Given the description of an element on the screen output the (x, y) to click on. 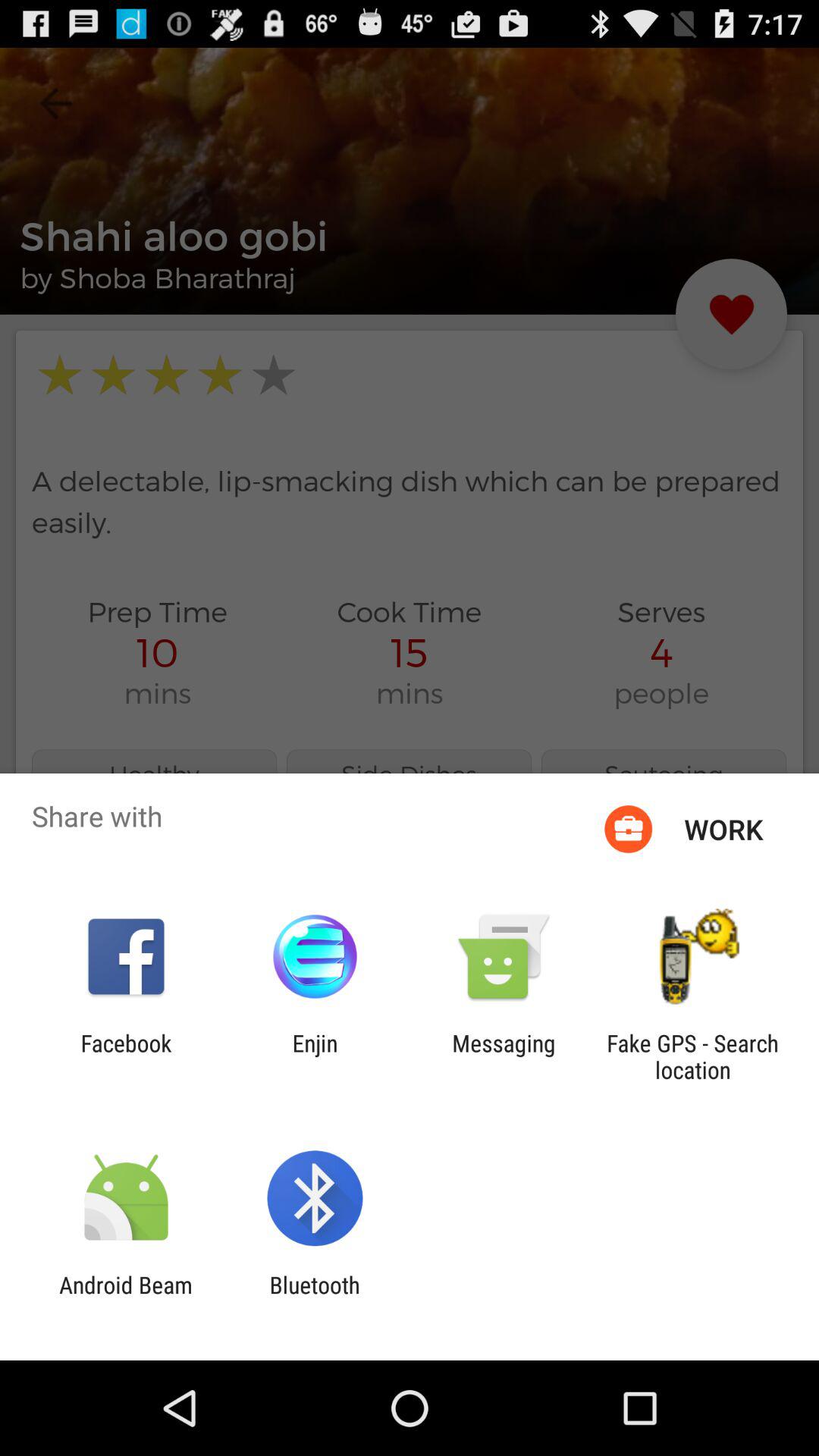
tap android beam app (125, 1298)
